Given the description of an element on the screen output the (x, y) to click on. 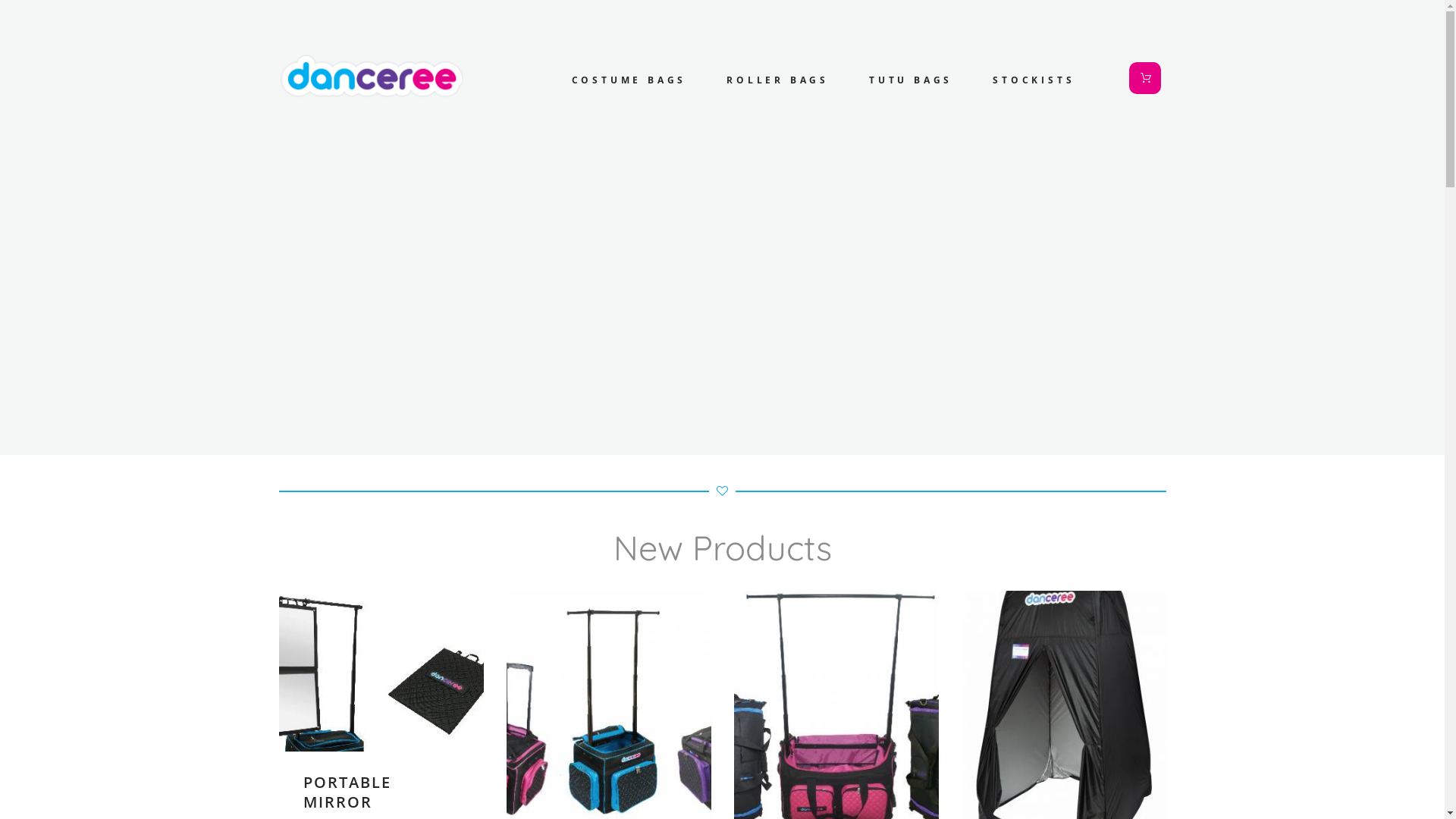
STOCKISTS Element type: text (1033, 80)
COSTUME BAGS Element type: text (629, 80)
ROLLER BAGS Element type: text (777, 80)
TUTU BAGS Element type: text (910, 80)
